Given the description of an element on the screen output the (x, y) to click on. 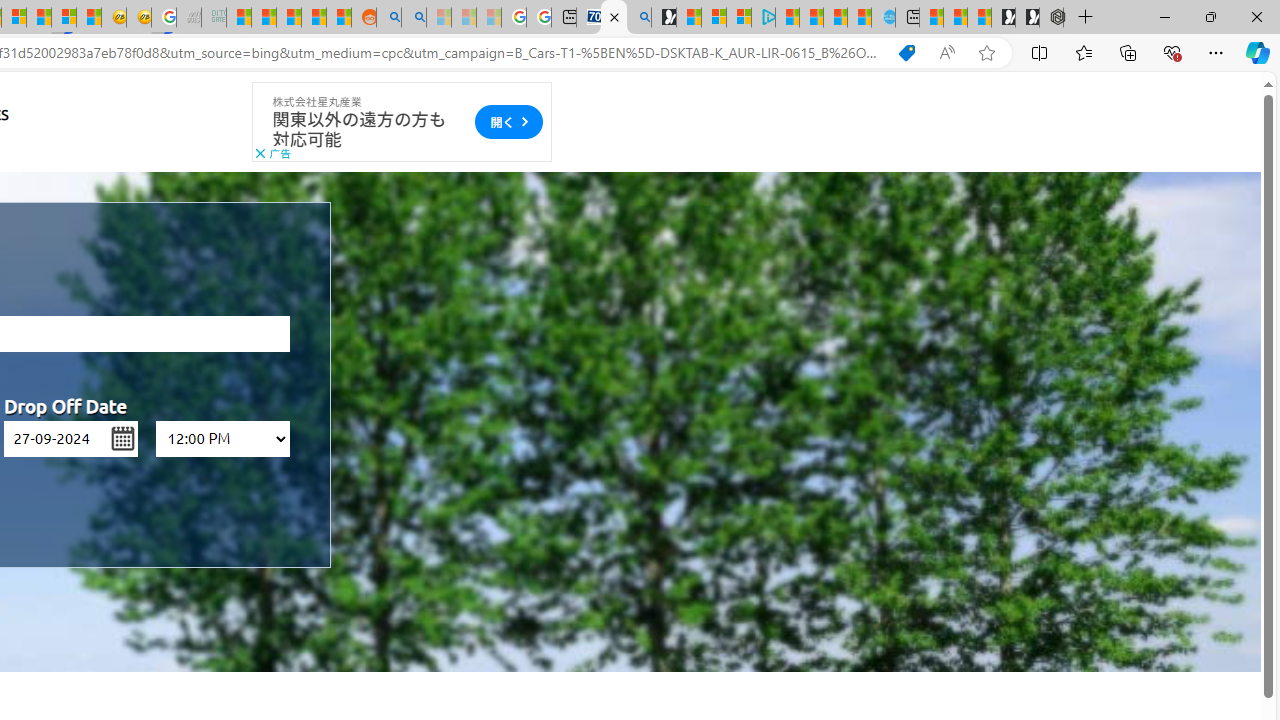
Play Free Online Games | Games from Microsoft Start (1027, 17)
Copilot (Ctrl+Shift+.) (1258, 52)
MSNBC - MSN (238, 17)
Class: select-dropoff-time select_box (222, 438)
Utah sues federal government - Search (413, 17)
